Given the description of an element on the screen output the (x, y) to click on. 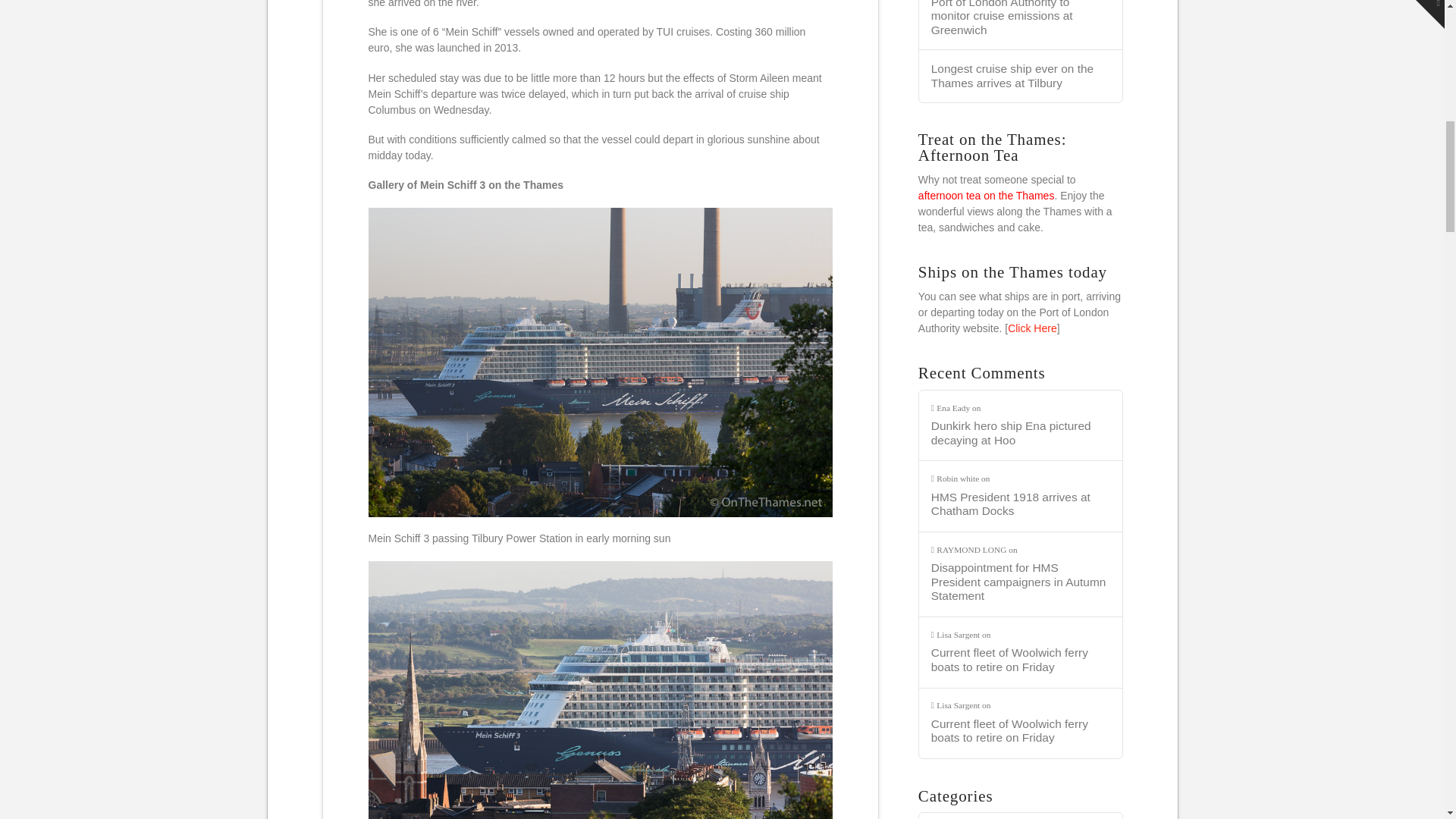
Afternoon Tea On The Thames (986, 195)
Current fleet of Woolwich ferry boats to retire on Friday (1020, 731)
afternoon tea on the Thames (986, 195)
Longest cruise ship ever on the Thames arrives at Tilbury (1020, 76)
HMS President 1918 arrives at Chatham Docks (1020, 504)
Current fleet of Woolwich ferry boats to retire on Friday (1020, 660)
Dunkirk hero ship Ena pictured decaying at Hoo (1020, 433)
Click Here (1032, 328)
